Given the description of an element on the screen output the (x, y) to click on. 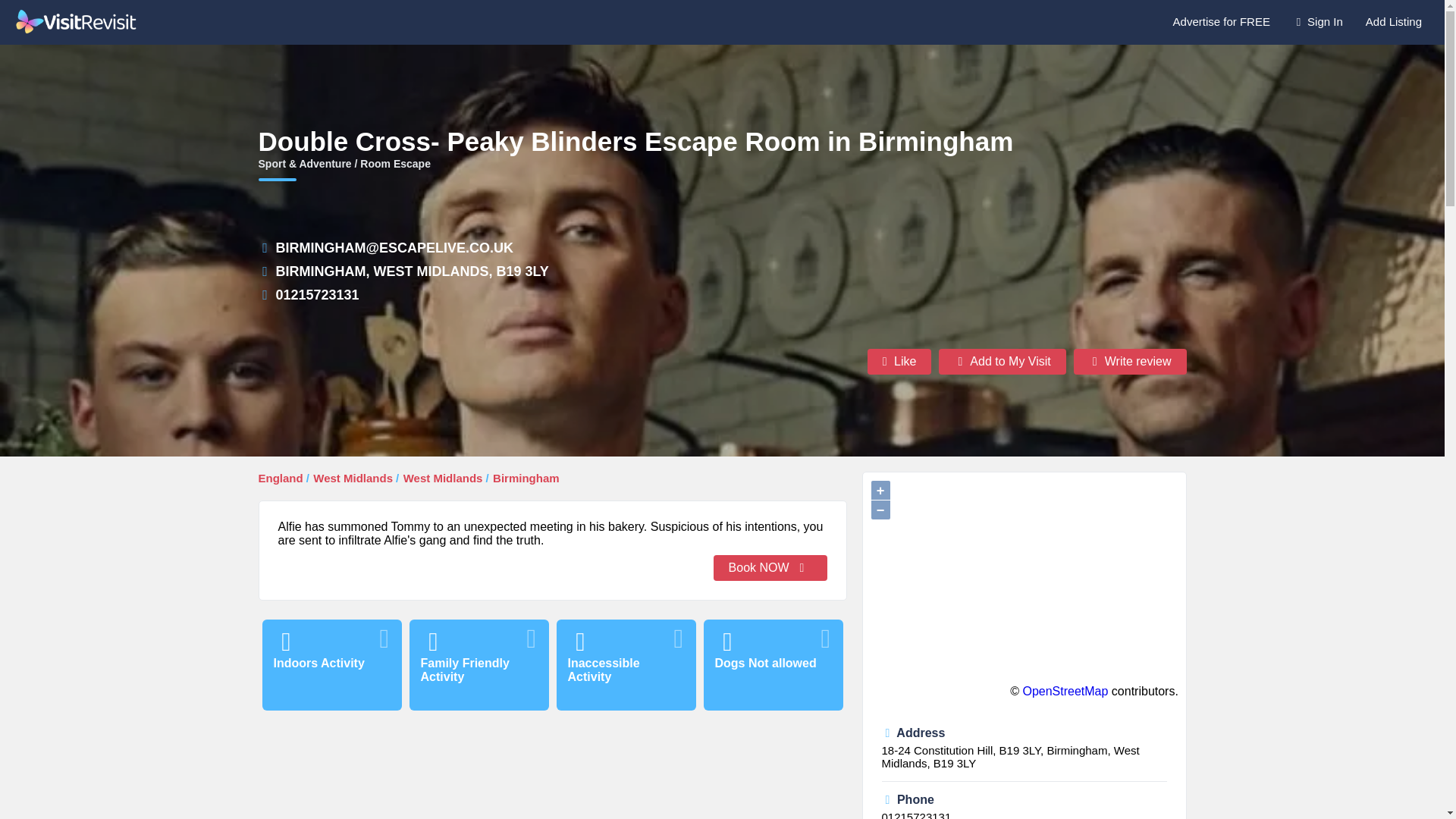
OpenStreetMap (1065, 690)
Birmingham (526, 477)
Like (899, 361)
Zoom in (879, 489)
Advertisement (551, 774)
Book NOW   (770, 567)
01215723131 (915, 814)
Advertise for FREE (1221, 21)
Add to My Visit (1002, 361)
West Midlands (443, 477)
Add Listing (1393, 21)
Write review (1130, 361)
West Midlands (353, 477)
Zoom out (879, 509)
